Given the description of an element on the screen output the (x, y) to click on. 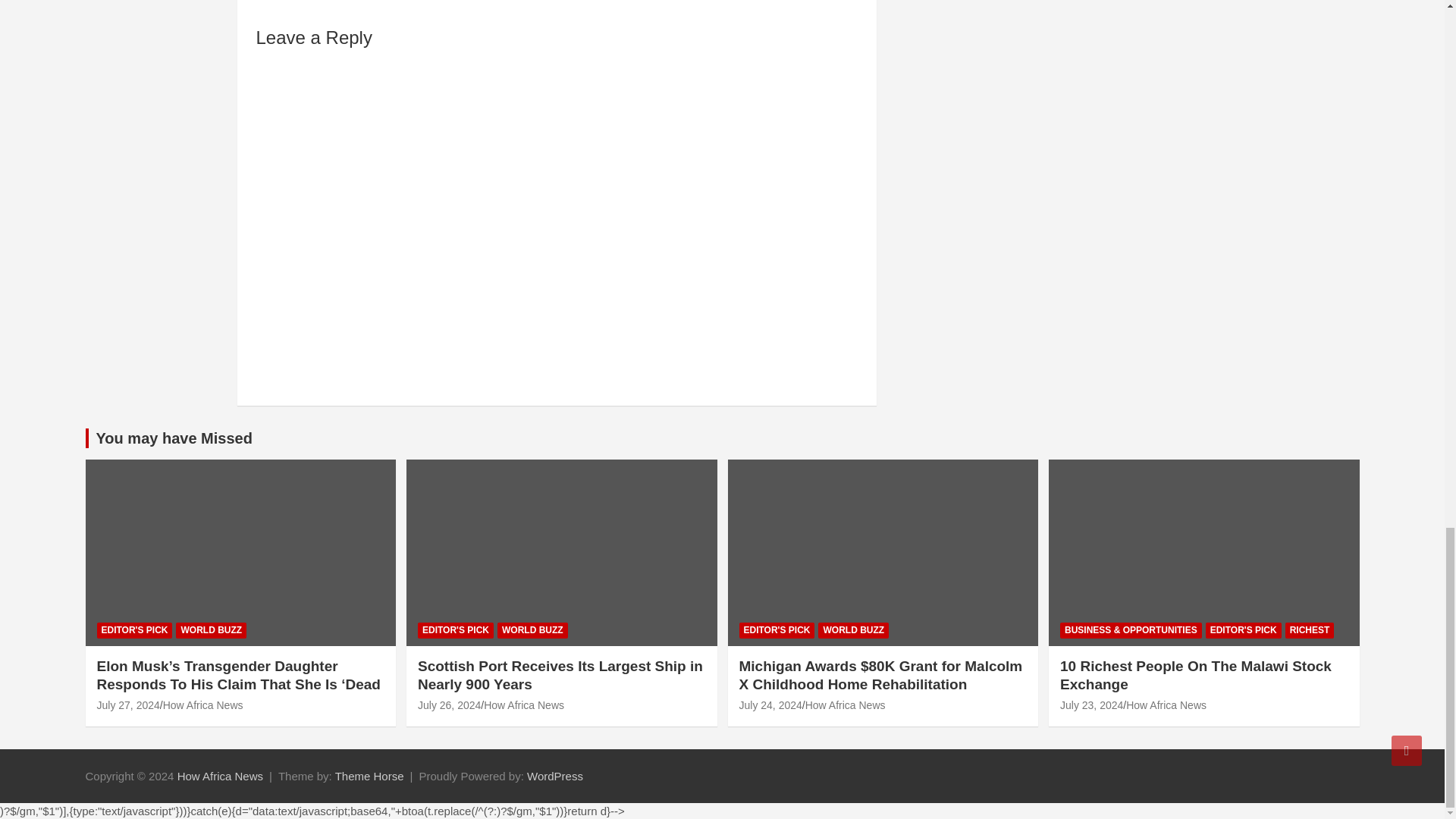
WordPress (555, 775)
10 Richest People On The Malawi Stock Exchange (1090, 705)
Theme Horse (369, 775)
Scottish Port Receives Its Largest Ship in Nearly 900 Years (448, 705)
How Africa News (220, 775)
